Given the description of an element on the screen output the (x, y) to click on. 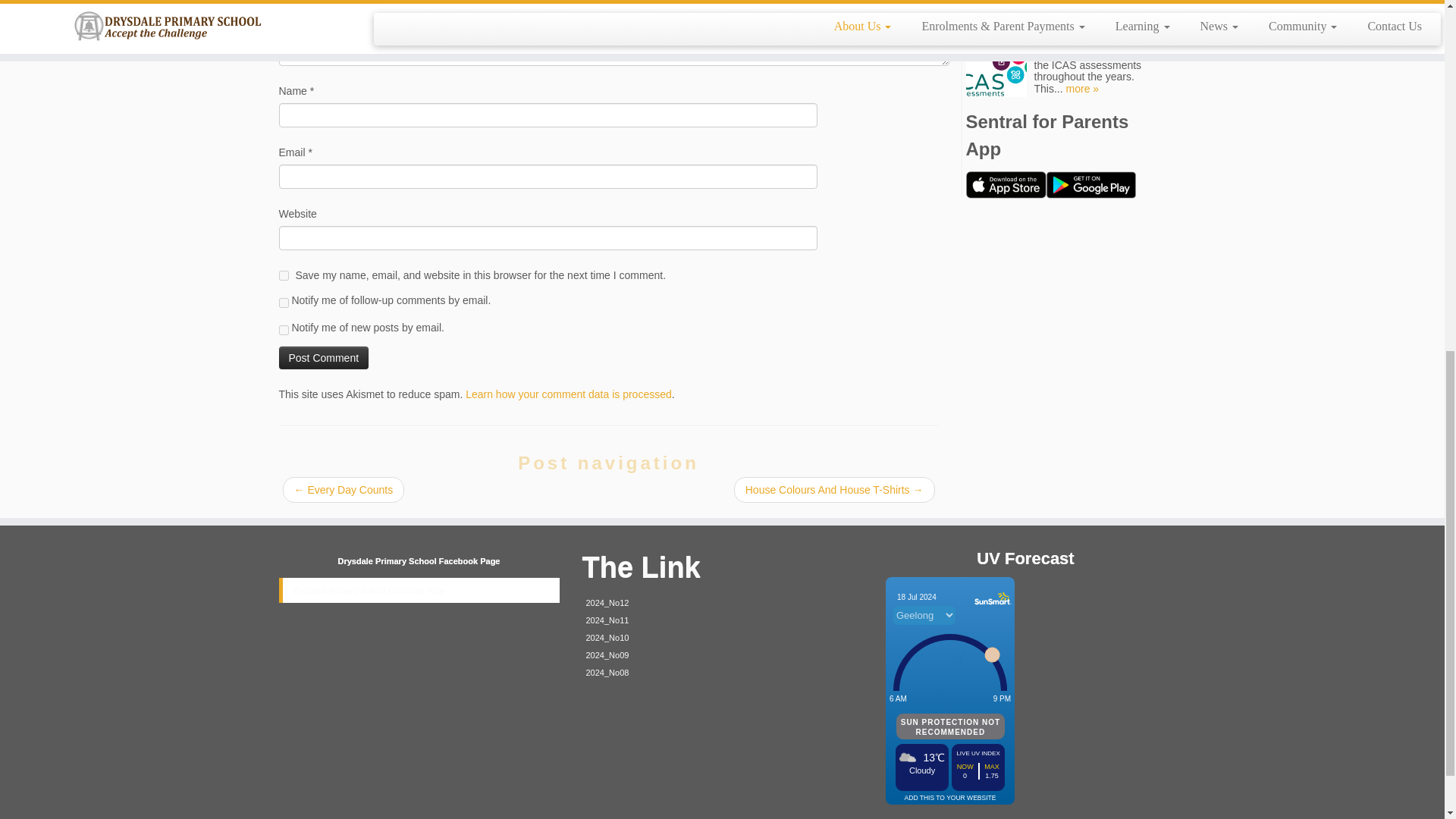
Post Comment (324, 357)
subscribe (283, 329)
yes (283, 275)
Post Comment (324, 357)
ICAS Assessements (1032, 23)
subscribe (283, 302)
Learn how your comment data is processed (568, 394)
